Given the description of an element on the screen output the (x, y) to click on. 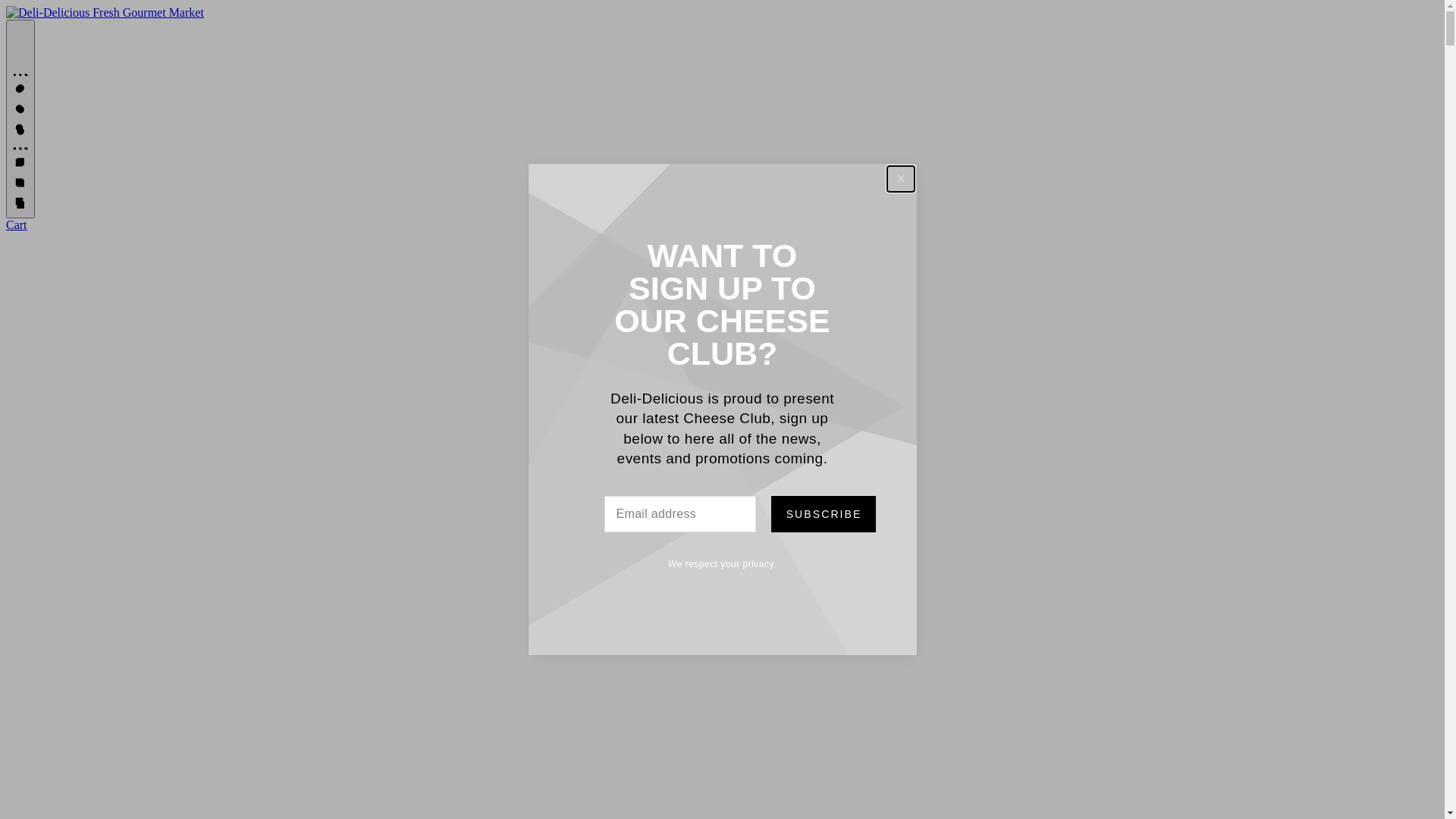
SUBSCRIBE Element type: text (822, 513)
